Given the description of an element on the screen output the (x, y) to click on. 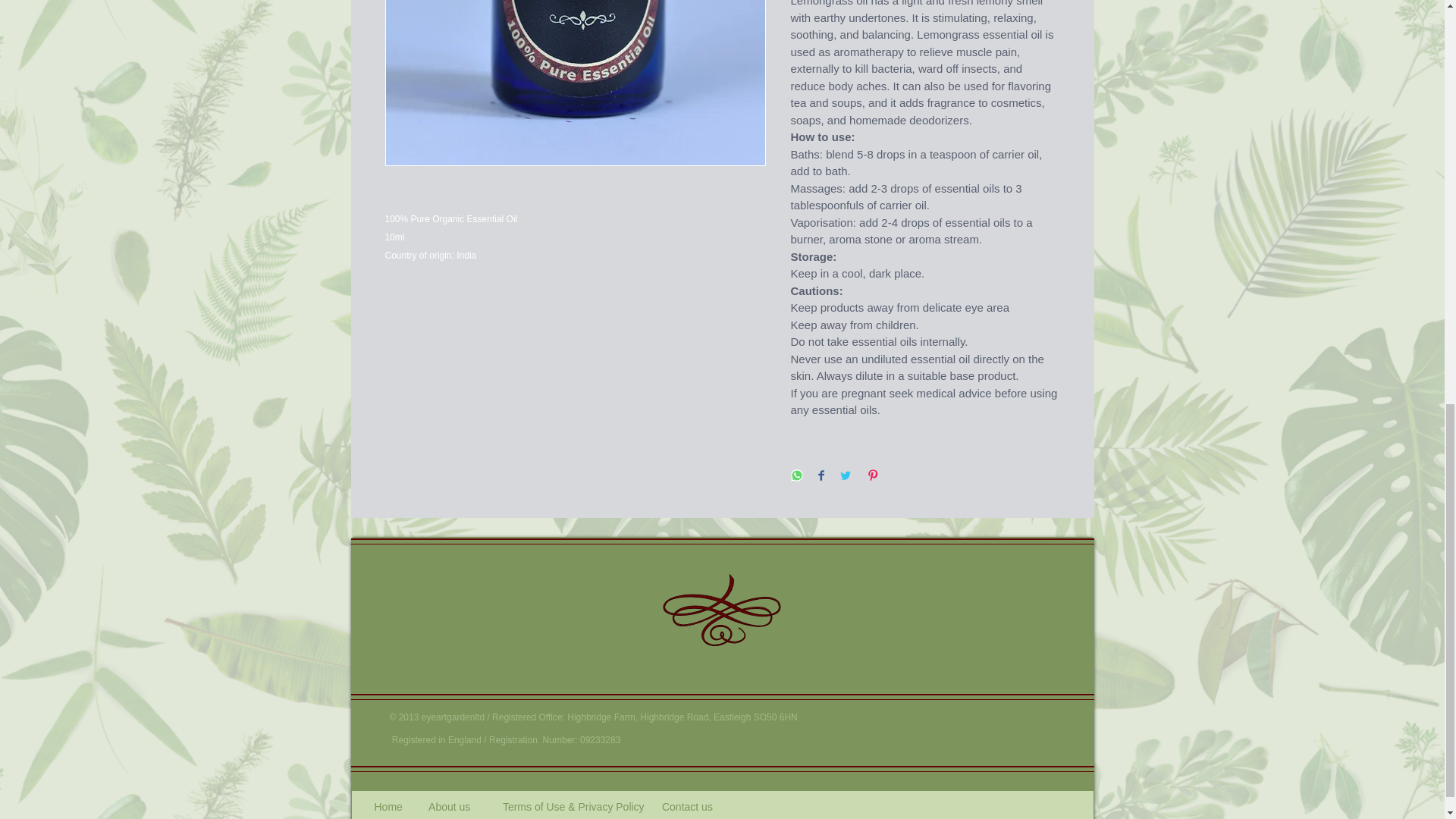
Contact us (687, 806)
About us (450, 806)
Home (390, 806)
